Given the description of an element on the screen output the (x, y) to click on. 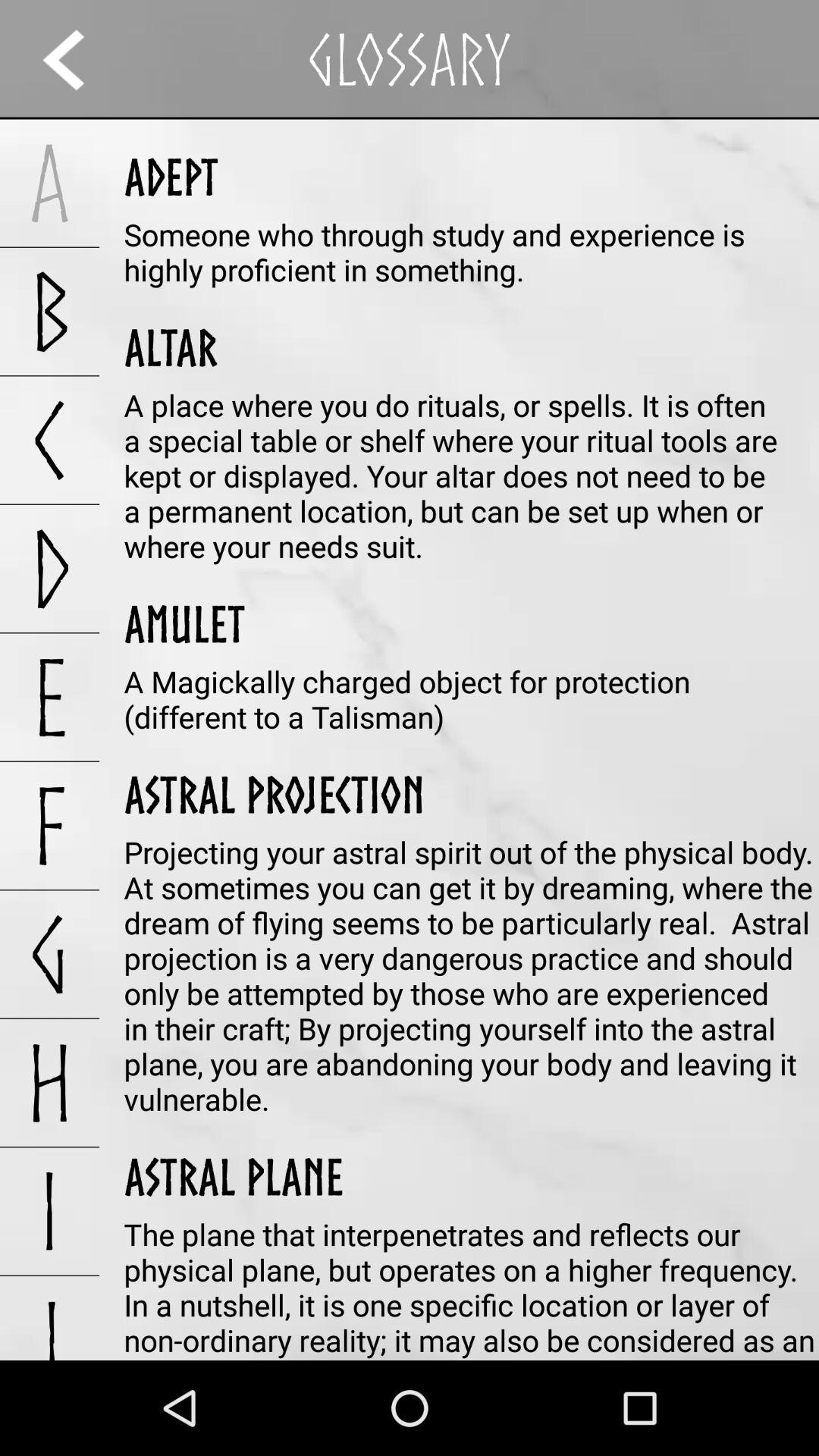
go back (77, 59)
